Given the description of an element on the screen output the (x, y) to click on. 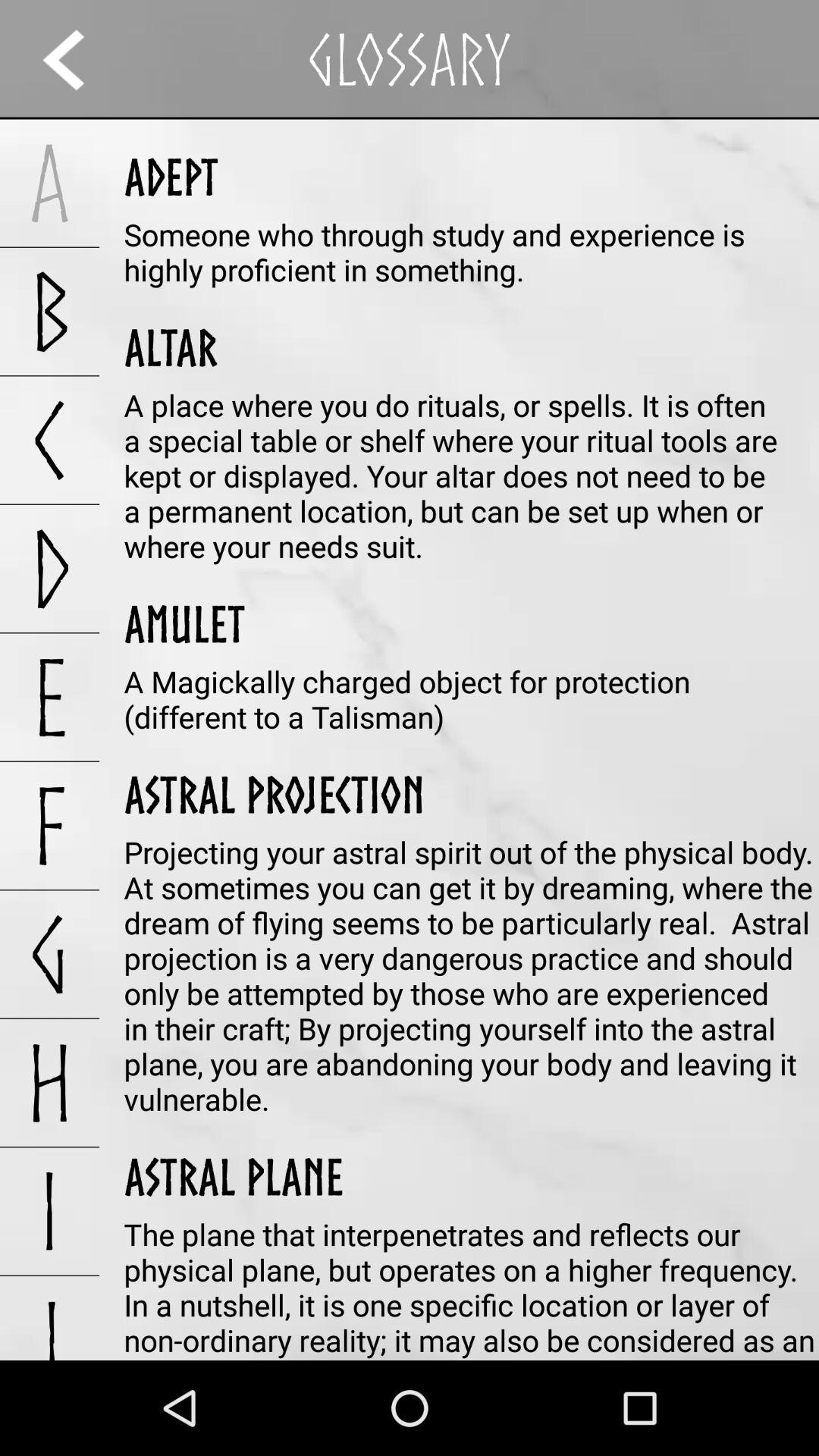
go back (77, 59)
